Given the description of an element on the screen output the (x, y) to click on. 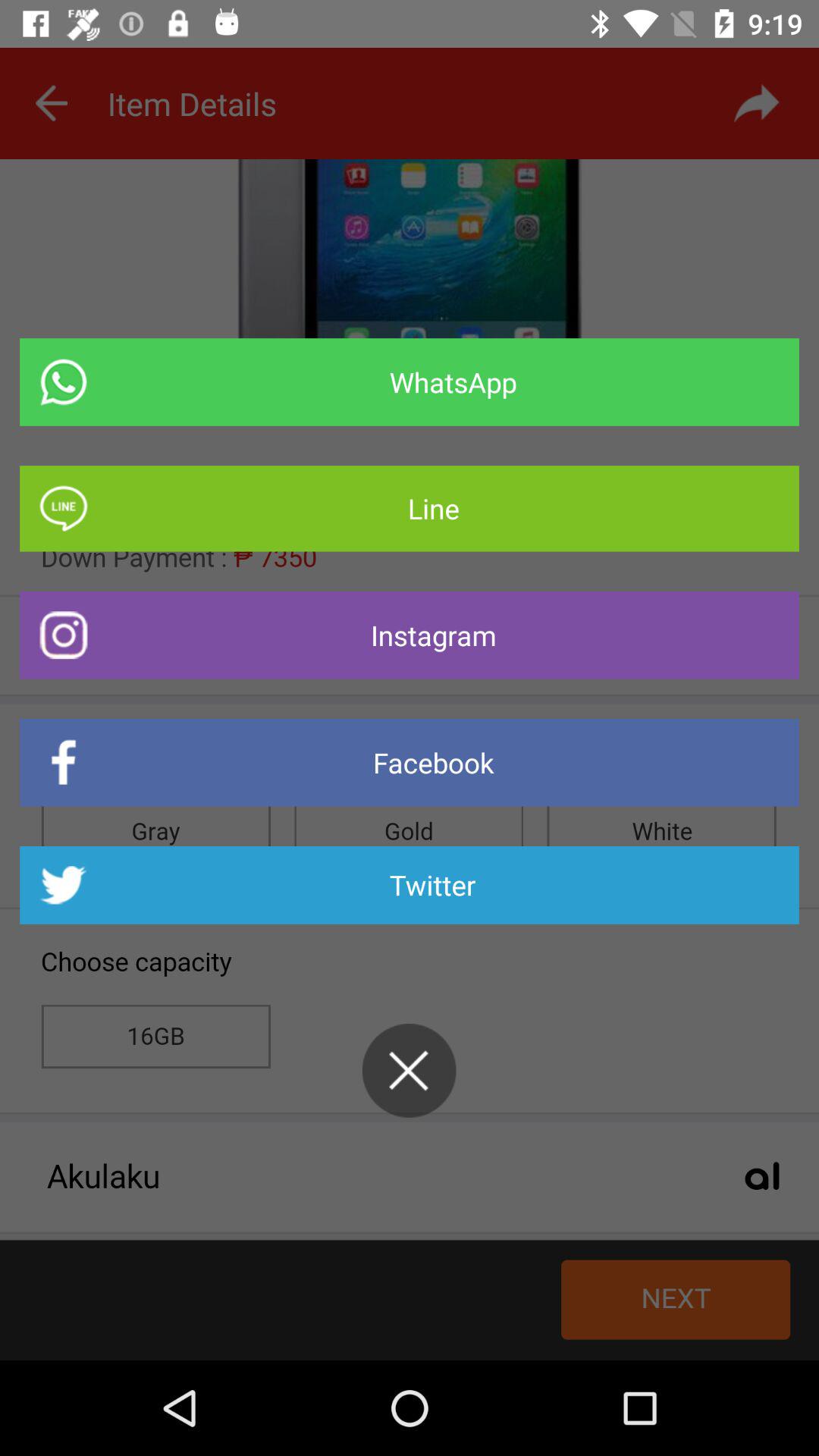
launch the icon below twitter icon (409, 1070)
